Given the description of an element on the screen output the (x, y) to click on. 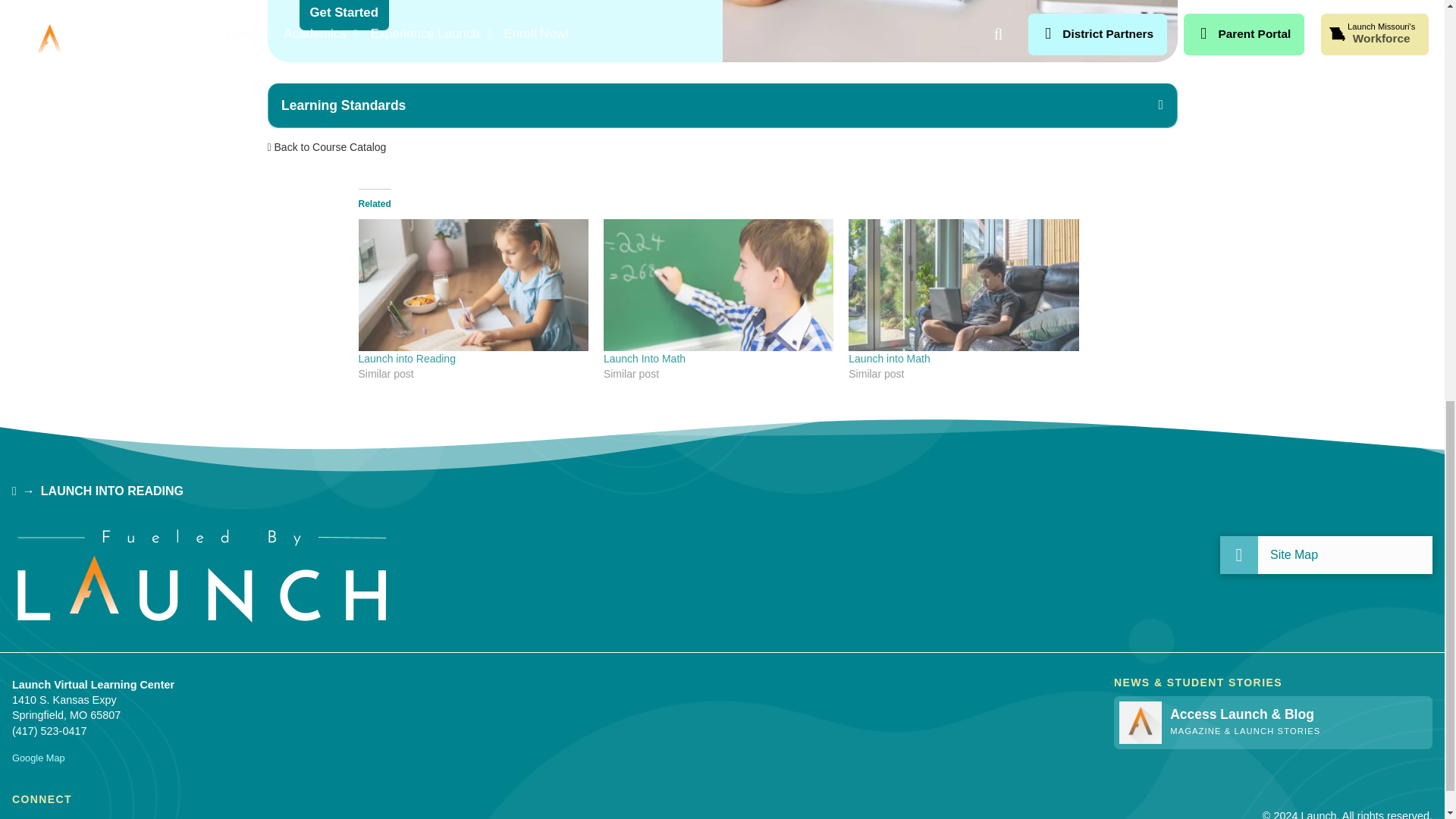
Launch into Math (963, 284)
Learning Standards (721, 105)
Launch Into Math (718, 284)
Get Started (343, 15)
HOME (13, 491)
Launch Into Math (644, 358)
Launch into Reading (473, 284)
Launch into Math (889, 358)
Launch into Math (889, 358)
Launch Into Math (644, 358)
LAUNCH INTO READING (111, 491)
Back to Course Catalog (325, 146)
You Are Here (111, 491)
Launch into Reading (406, 358)
Launch into Reading (406, 358)
